Given the description of an element on the screen output the (x, y) to click on. 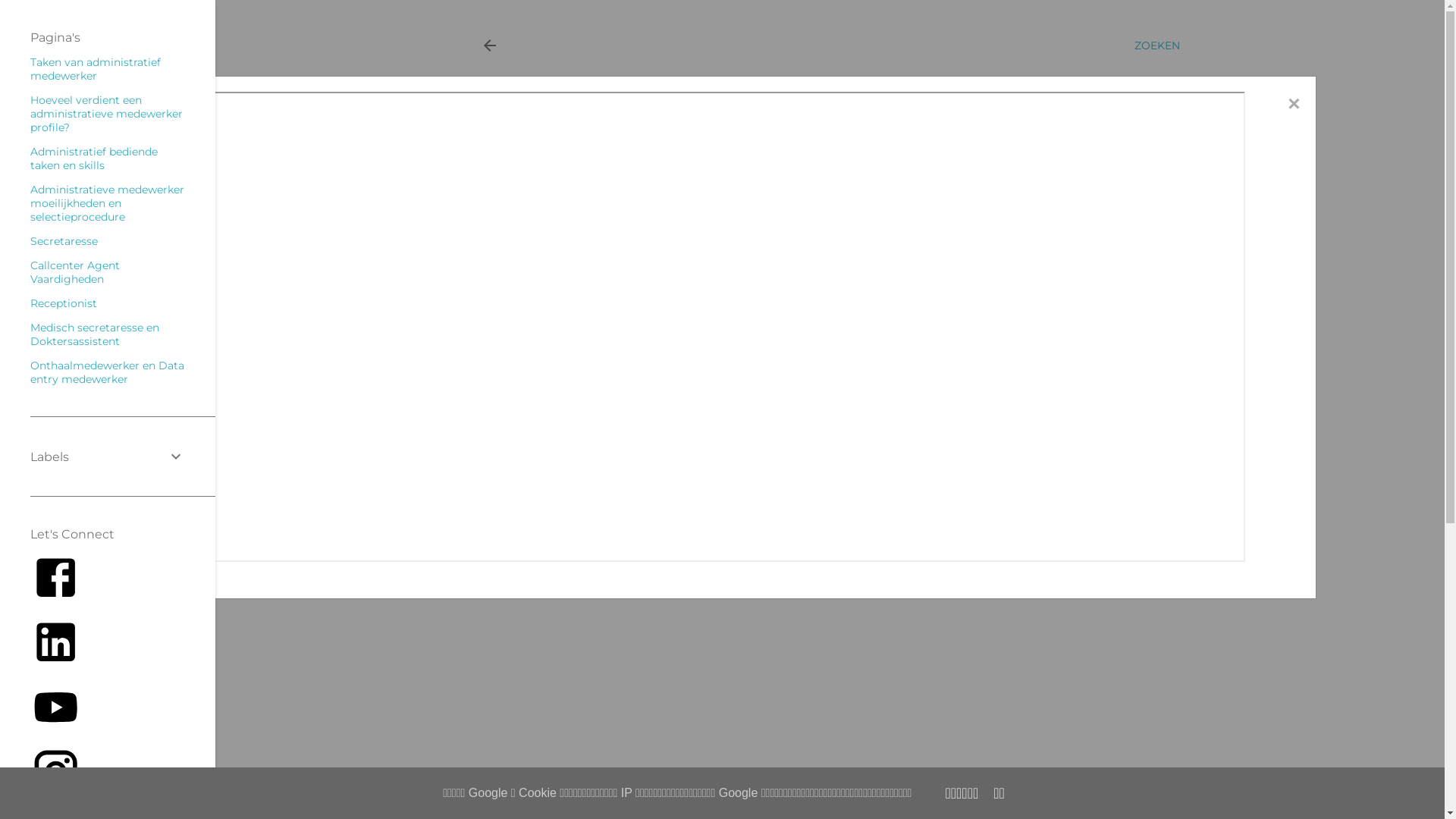
Onthaalmedewerker en Data entry medewerker Element type: text (107, 371)
Callcenter Agent Vaardigheden Element type: text (74, 271)
oktober 30, 2021 Element type: text (684, 125)
Taken van administratief medewerker Element type: text (95, 68)
Secretaresse Element type: text (63, 240)
Receptionist Element type: text (63, 303)
ZOEKEN Element type: text (1156, 45)
Administratief bediende taken en skills Element type: text (93, 158)
Medisch secretaresse en Doktersassistent Element type: text (94, 334)
Hoeveel verdient een administratieve medewerker profile? Element type: text (106, 113)
